Given the description of an element on the screen output the (x, y) to click on. 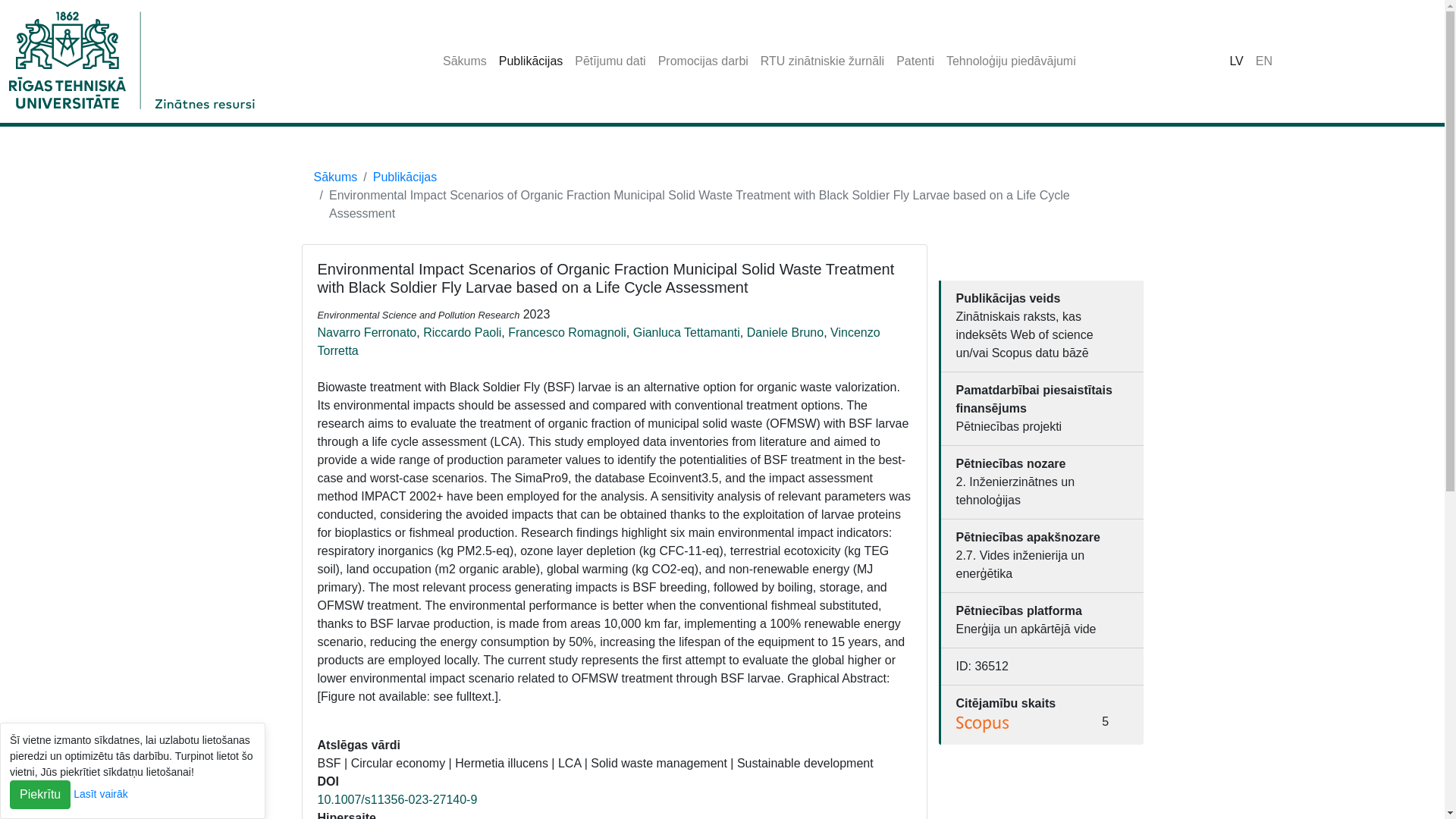
EN (1263, 60)
Vincenzo Torretta (598, 341)
Scopus (982, 723)
Daniele Bruno (785, 332)
Navarro Ferronato (366, 332)
Gianluca Tettamanti (686, 332)
Patenti (914, 60)
Promocijas darbi (703, 60)
Francesco Romagnoli (567, 332)
Riccardo Paoli (461, 332)
